Given the description of an element on the screen output the (x, y) to click on. 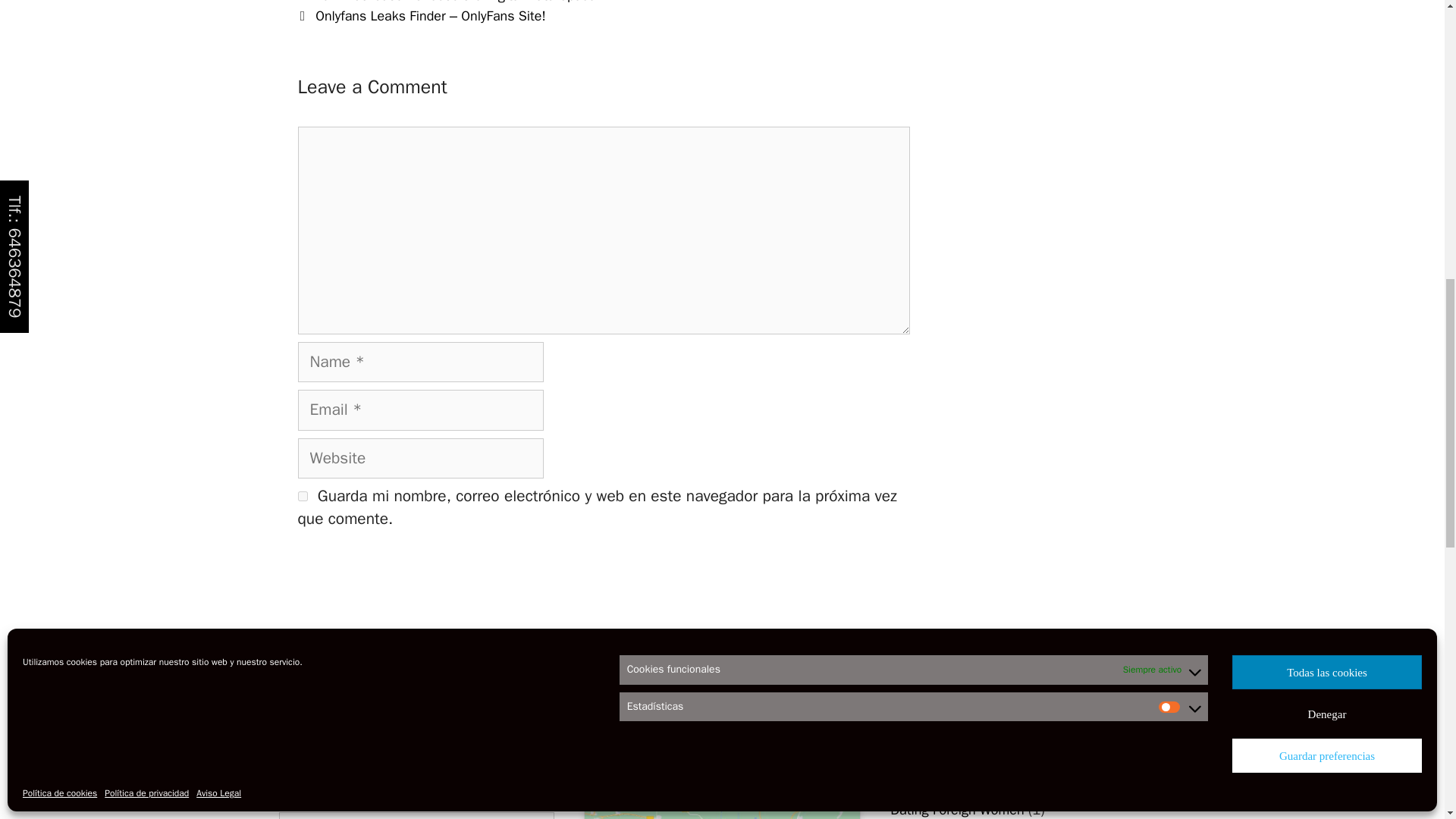
For what reason Choose the Digital Data Space? (458, 2)
yes (302, 496)
Post Comment (358, 571)
Next (420, 15)
Post Comment (358, 571)
Previous (449, 2)
